Given the description of an element on the screen output the (x, y) to click on. 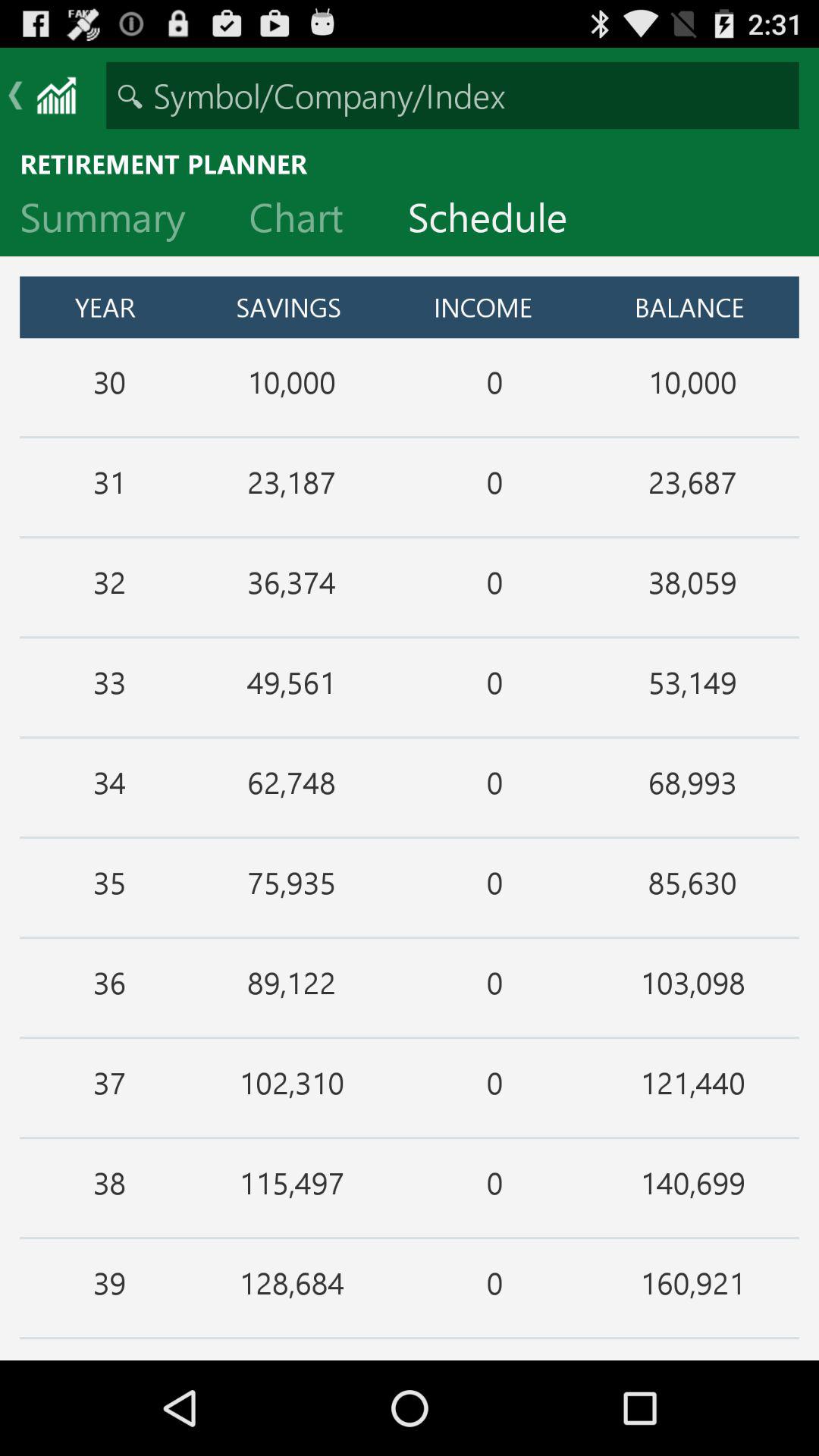
press the item below retirement planner icon (308, 220)
